Given the description of an element on the screen output the (x, y) to click on. 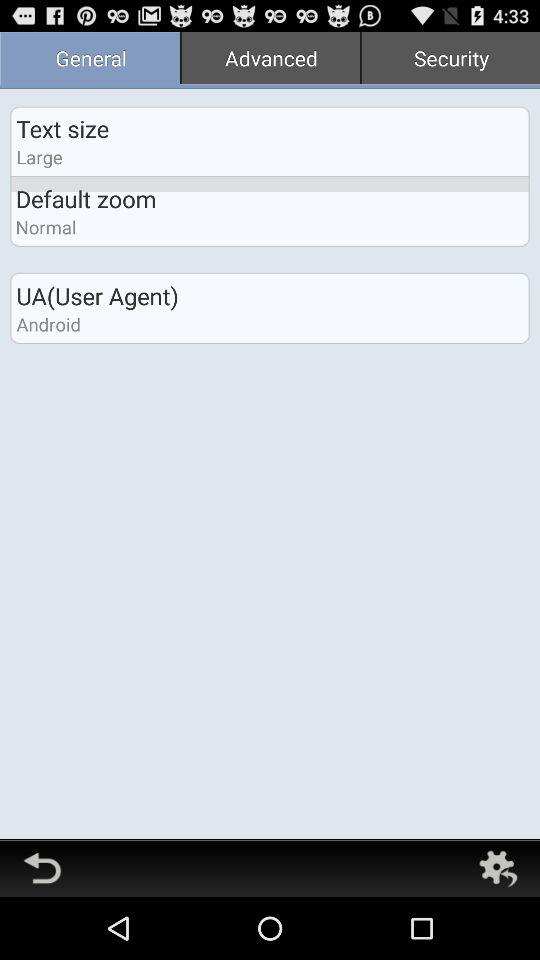
scroll to advanced (270, 60)
